Given the description of an element on the screen output the (x, y) to click on. 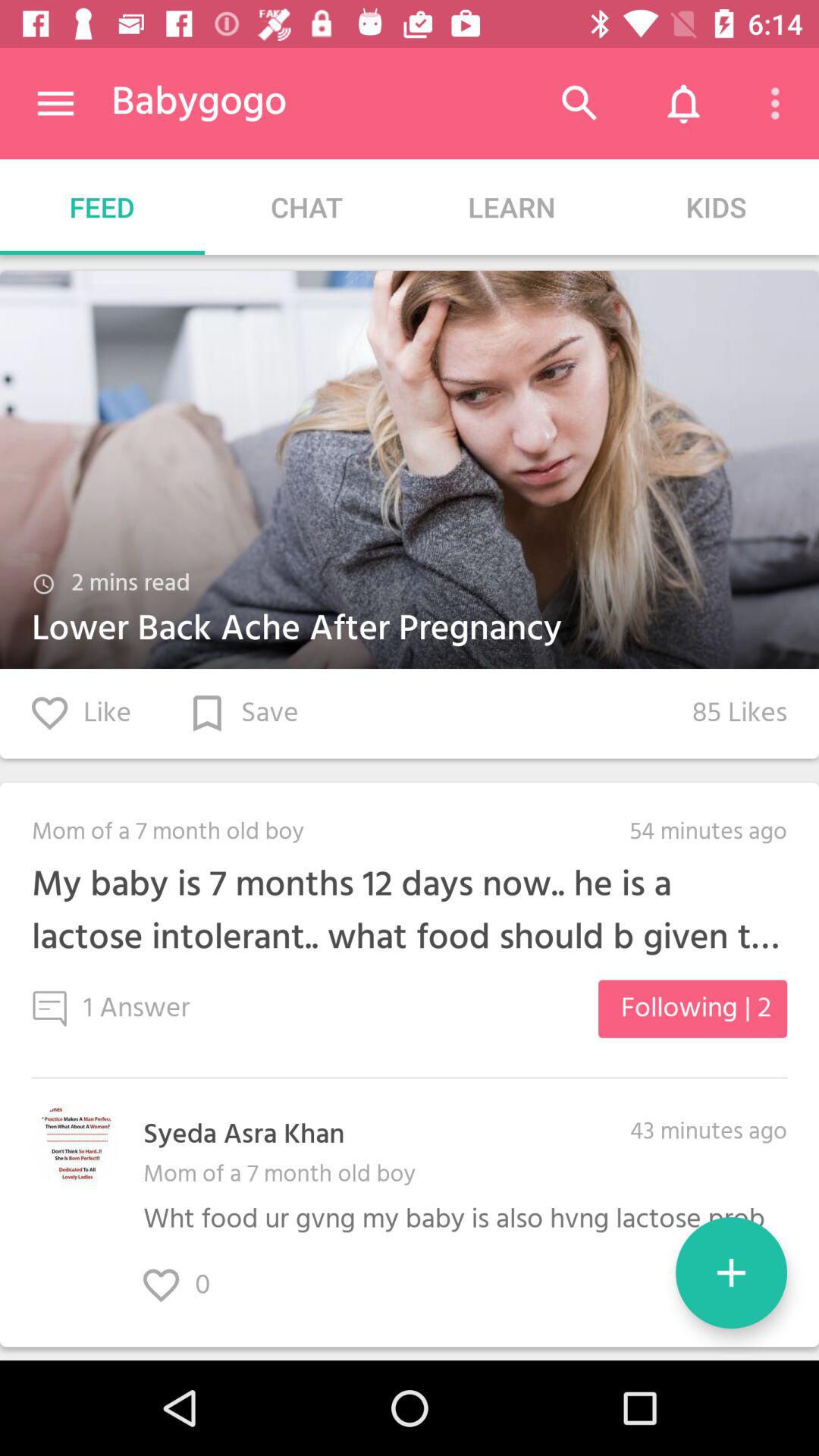
turn off the item below the 43 minutes ago (731, 1272)
